Given the description of an element on the screen output the (x, y) to click on. 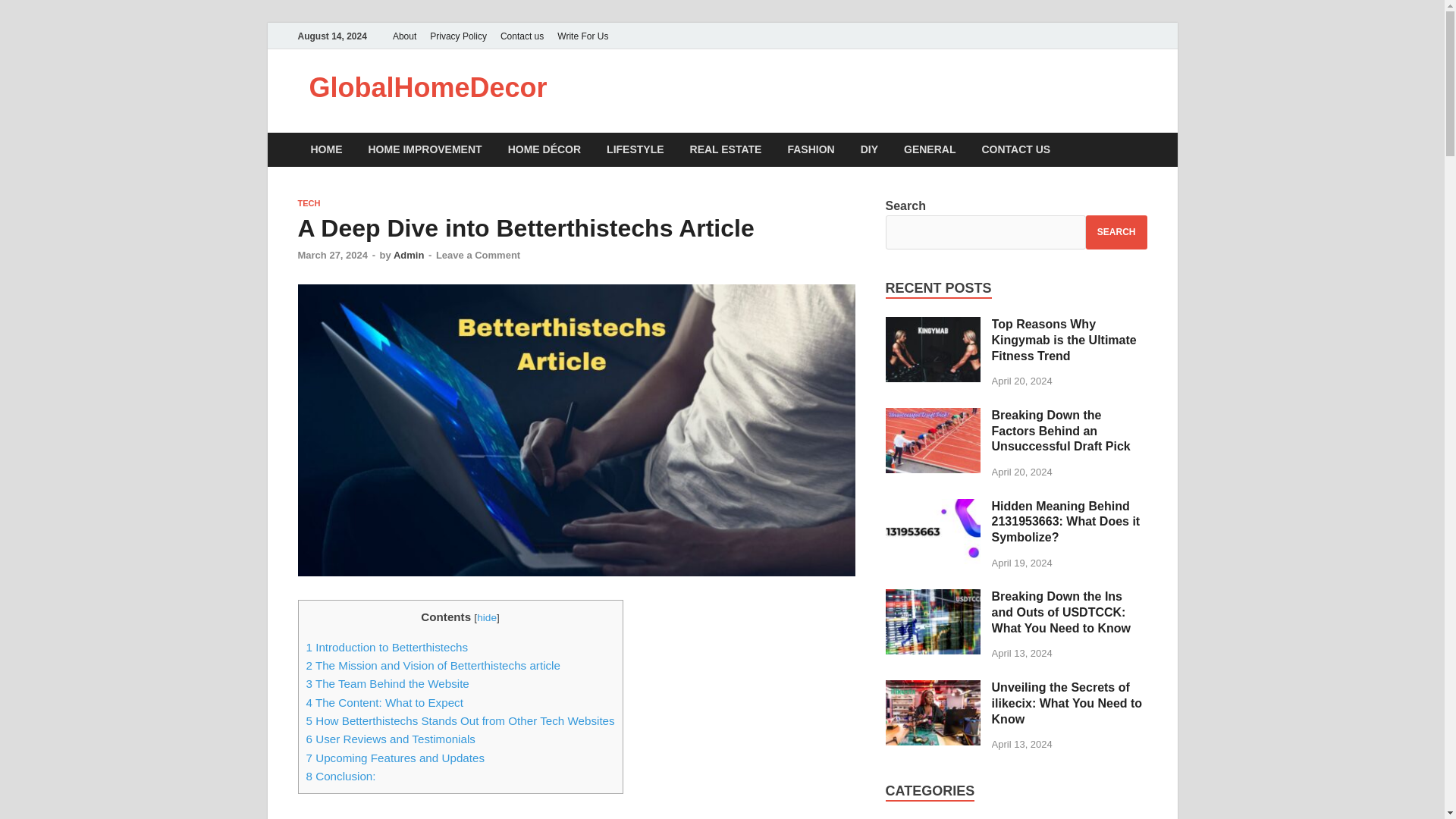
HOME (326, 149)
hide (486, 617)
Admin (408, 255)
TECH (308, 203)
Top Reasons Why Kingymab is the Ultimate Fitness Trend (932, 325)
March 27, 2024 (332, 255)
Privacy Policy (458, 35)
About (404, 35)
CONTACT US (1015, 149)
